Given the description of an element on the screen output the (x, y) to click on. 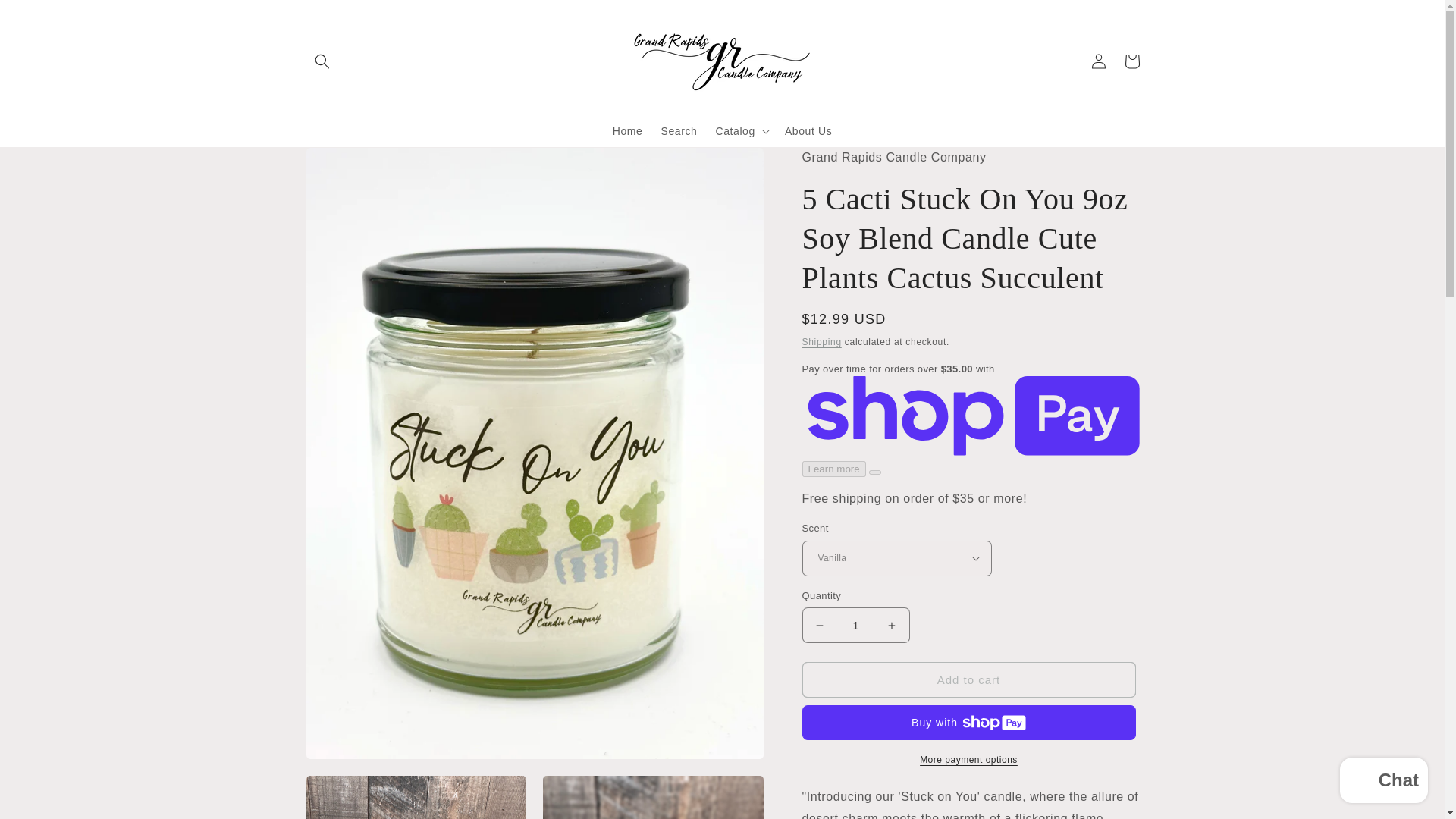
Shopify online store chat (1383, 781)
Home (628, 131)
Skip to content (45, 17)
Search (678, 131)
1 (856, 624)
